Given the description of an element on the screen output the (x, y) to click on. 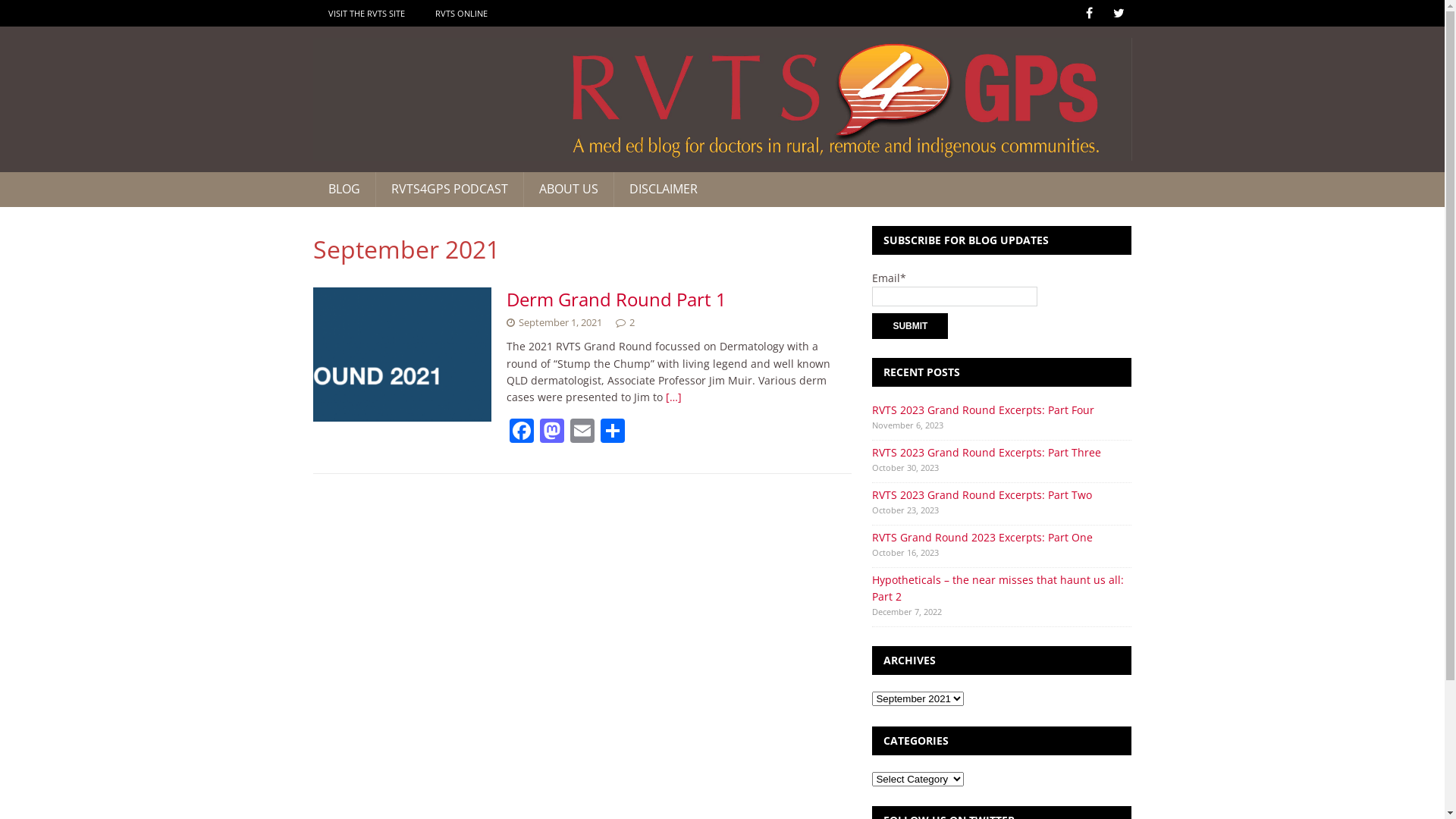
Facebook Element type: text (521, 431)
RVTS ONLINE Element type: text (461, 13)
ABOUT US Element type: text (568, 189)
Email Element type: text (582, 431)
RVTS Grand Round 2023 Excerpts: Part One Element type: text (982, 537)
BLOG Element type: text (343, 189)
VISIT THE RVTS SITE Element type: text (365, 13)
RVTS4GPS PODCAST Element type: text (448, 189)
Derm Grand Round Part 1 Element type: text (616, 298)
RVTS 2023 Grand Round Excerpts: Part Three Element type: text (986, 452)
Submit Element type: text (909, 325)
Share Element type: text (612, 431)
RVTS 2023 Grand Round Excerpts: Part Two Element type: text (982, 494)
DISCLAIMER Element type: text (662, 189)
2 Element type: text (631, 322)
RVTS 2023 Grand Round Excerpts: Part Four Element type: text (983, 409)
RVTS4GPs - Resources for Australian GPs and Registrars Element type: hover (721, 99)
Mastodon Element type: text (551, 431)
